Given the description of an element on the screen output the (x, y) to click on. 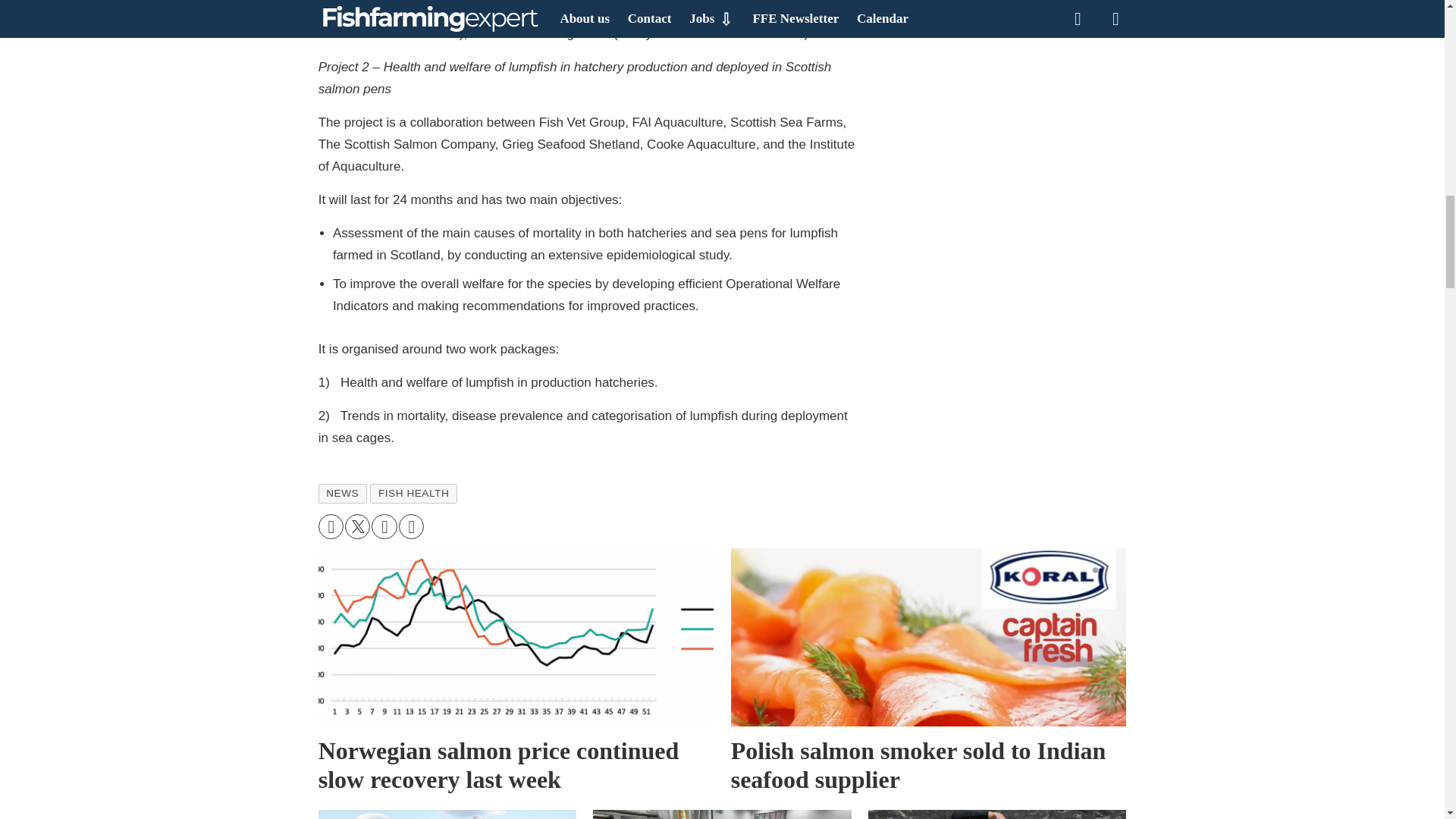
Wellboat is a big move for Inverlussa (447, 814)
Polish salmon smoker sold to Indian seafood supplier (928, 637)
Norwegian salmon price continued slow recovery last week (516, 673)
Norwegian salmon price continued slow recovery last week (516, 637)
FISH HEALTH (413, 493)
NEWS (342, 493)
Polish salmon smoker sold to Indian seafood supplier (928, 673)
Wellboat is a big move for Inverlussa (447, 814)
Salmon farmer dives back into triathlon sponsorship (996, 814)
